Given the description of an element on the screen output the (x, y) to click on. 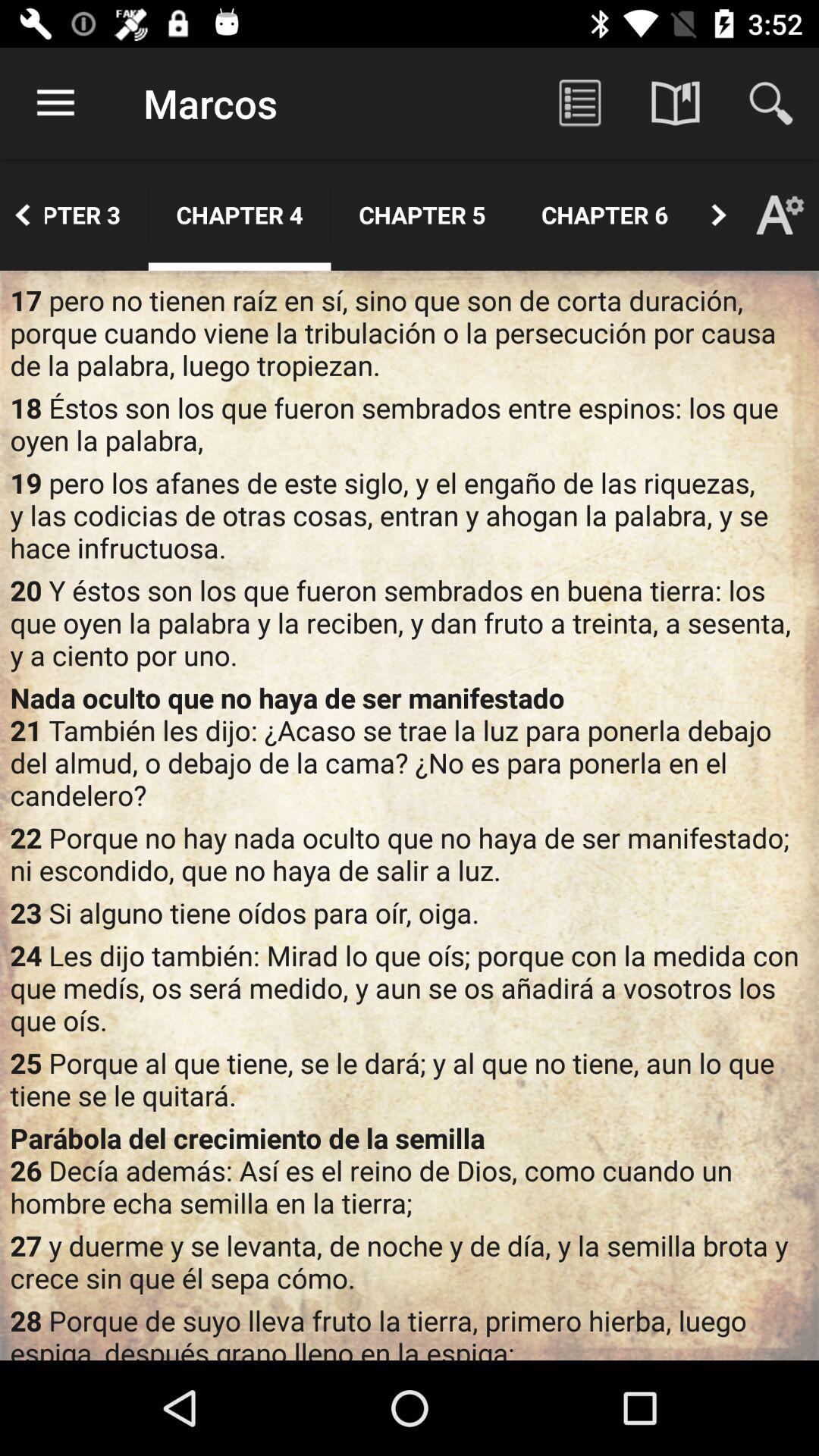
turn off app to the left of chapter 6 app (422, 214)
